Given the description of an element on the screen output the (x, y) to click on. 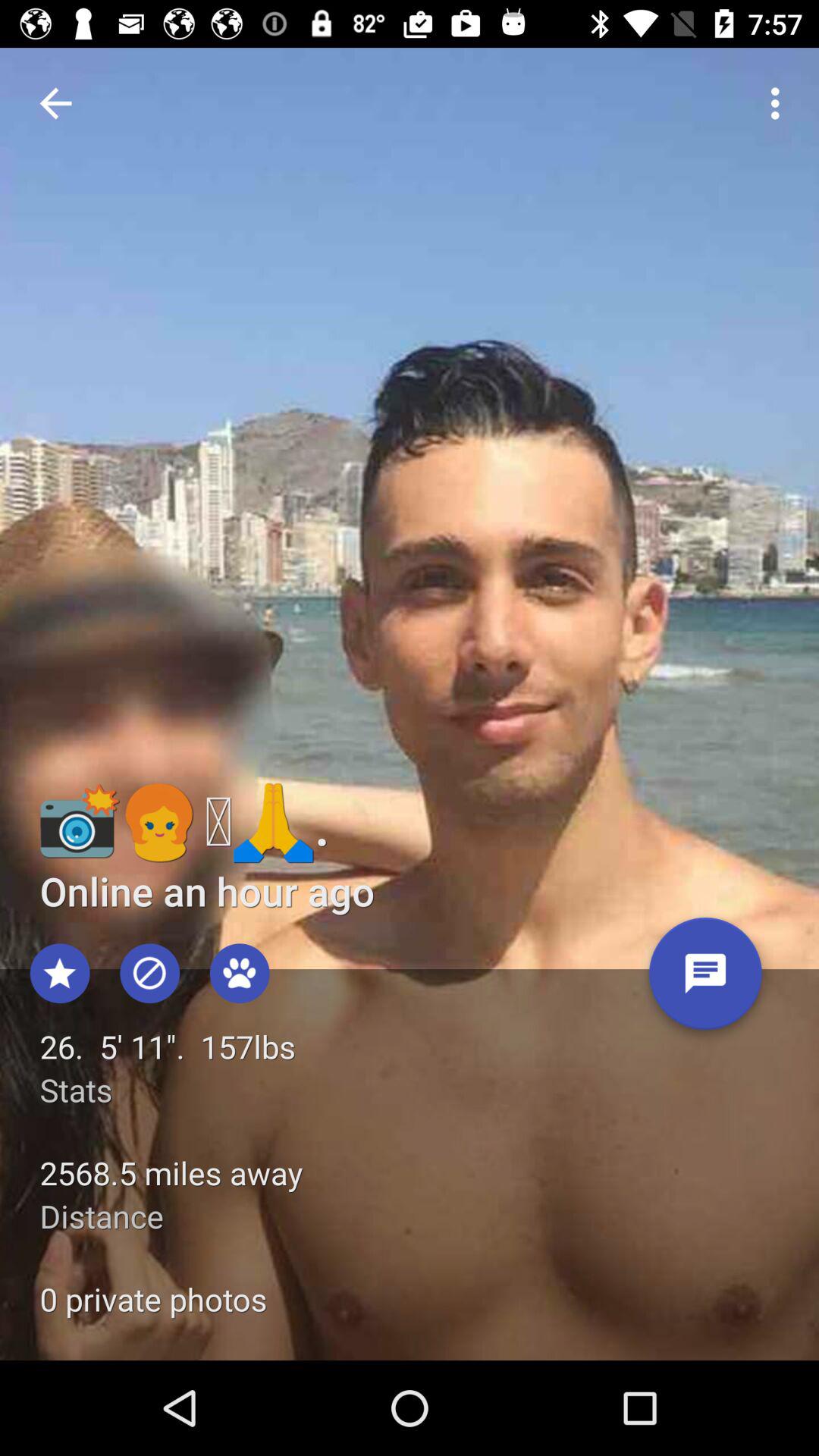
messages (705, 979)
